Given the description of an element on the screen output the (x, y) to click on. 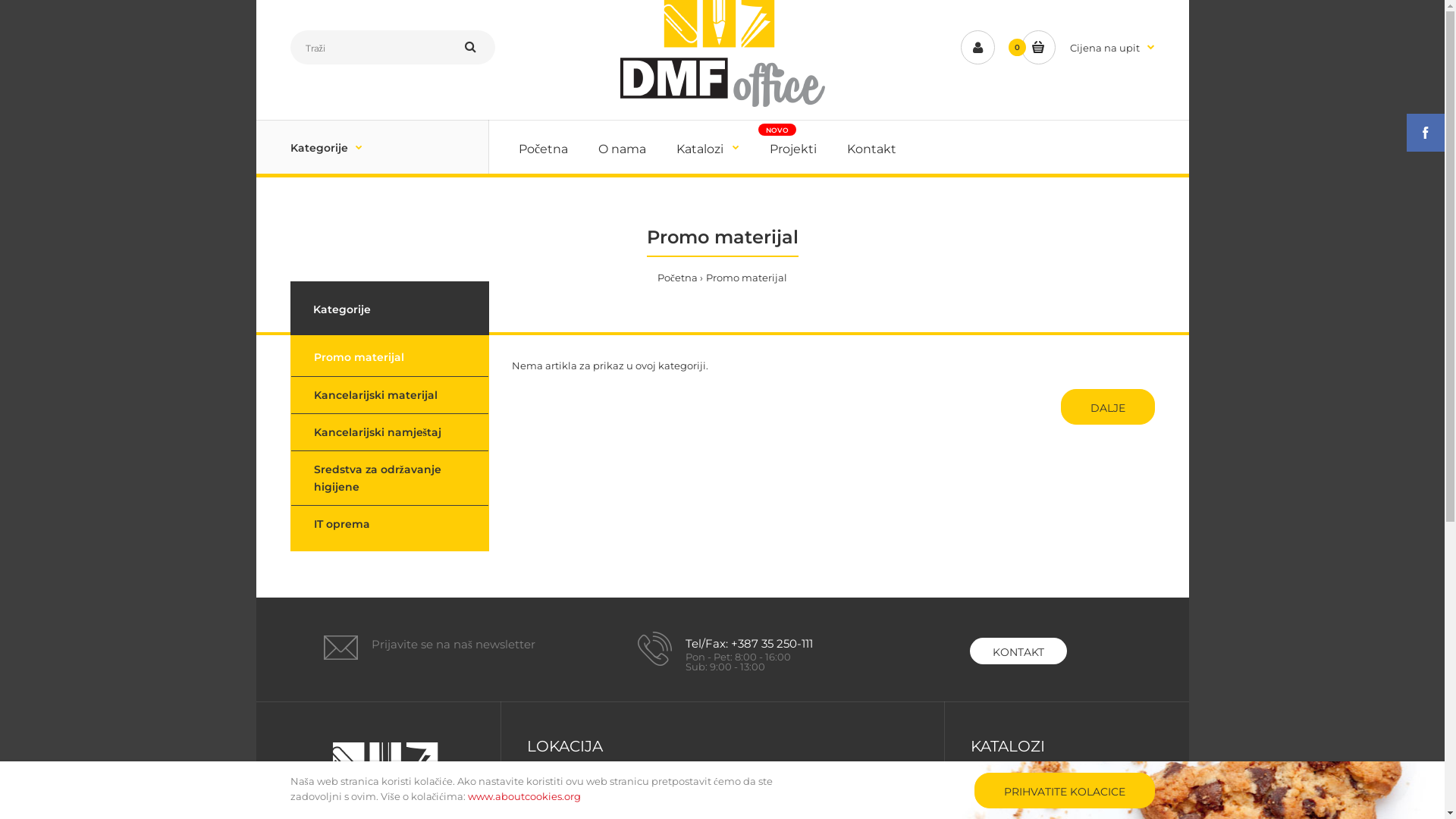
DALJE Element type: text (1107, 406)
Promo materijal Element type: text (1010, 794)
O nama Element type: text (621, 146)
Kontakt Element type: text (871, 146)
IT oprema Element type: text (390, 523)
Kancelarijski materijal Element type: text (390, 394)
0
Cijena na upit Element type: text (1087, 47)
Promo materijal Element type: text (390, 355)
www.aboutcookies.org Element type: text (523, 796)
Promo materijal Element type: text (746, 277)
DMF Office Element type: hover (721, 55)
Katalozi Element type: text (707, 146)
Projekti
NOVO Element type: text (793, 146)
KONTAKT Element type: text (1017, 650)
